Given the description of an element on the screen output the (x, y) to click on. 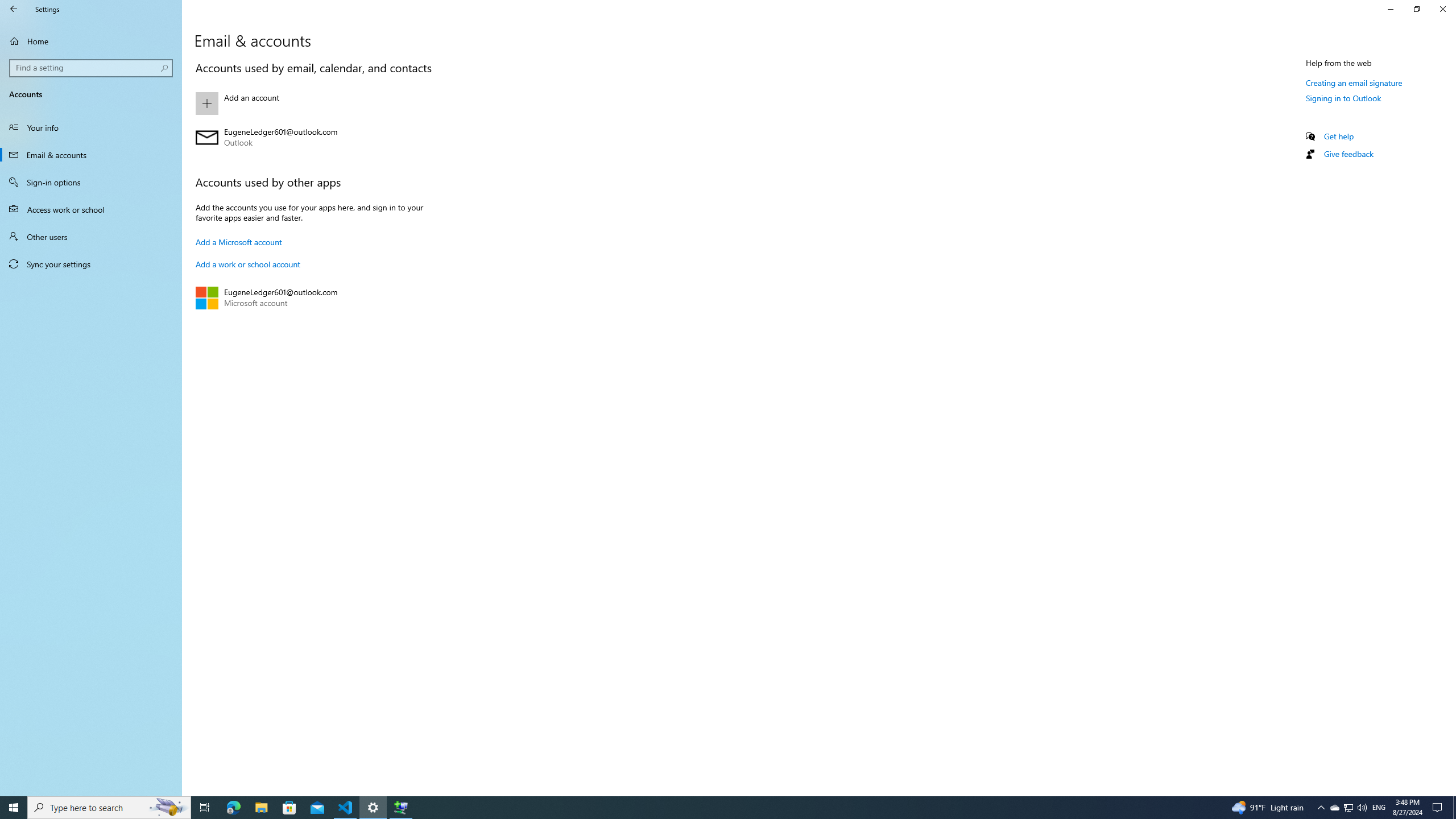
Other users (91, 236)
Restore Settings (1416, 9)
EugeneLedger601@outlook.com Microsoft account (319, 297)
Sign-in options (91, 181)
Add an account (319, 103)
Access work or school (91, 208)
Sync your settings (91, 263)
Search box, Find a setting (91, 67)
Tray Input Indicator - English (United States) (1378, 807)
Running applications (706, 807)
